Given the description of an element on the screen output the (x, y) to click on. 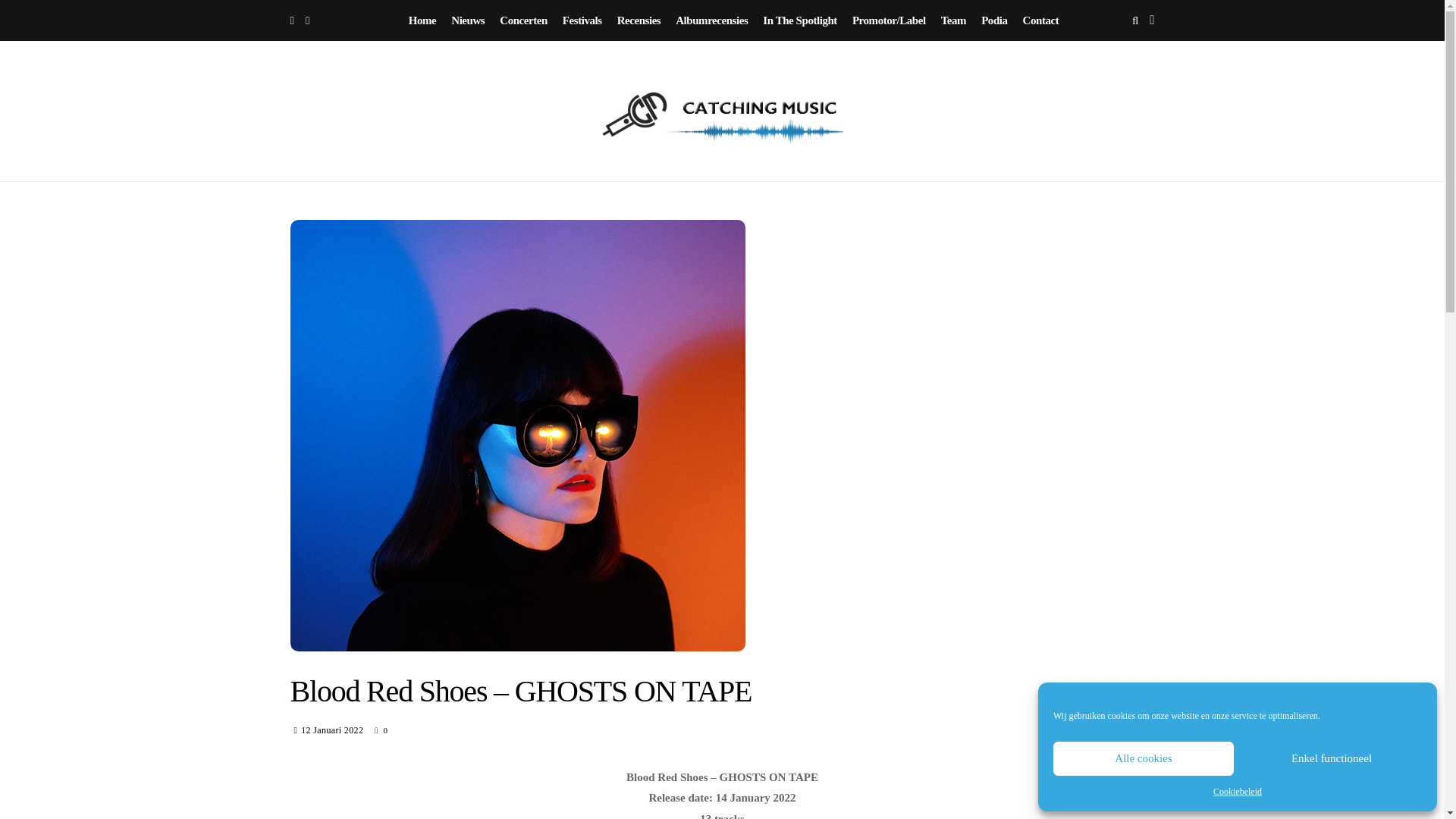
0 (381, 729)
Recensies (639, 20)
Enkel functioneel (1331, 758)
In The Spotlight (799, 20)
Contact (1041, 20)
Alle cookies (1142, 758)
Albumrecensies (711, 20)
Cookiebeleid (1237, 791)
Like (381, 729)
Concerten (523, 20)
Festivals (582, 20)
